Given the description of an element on the screen output the (x, y) to click on. 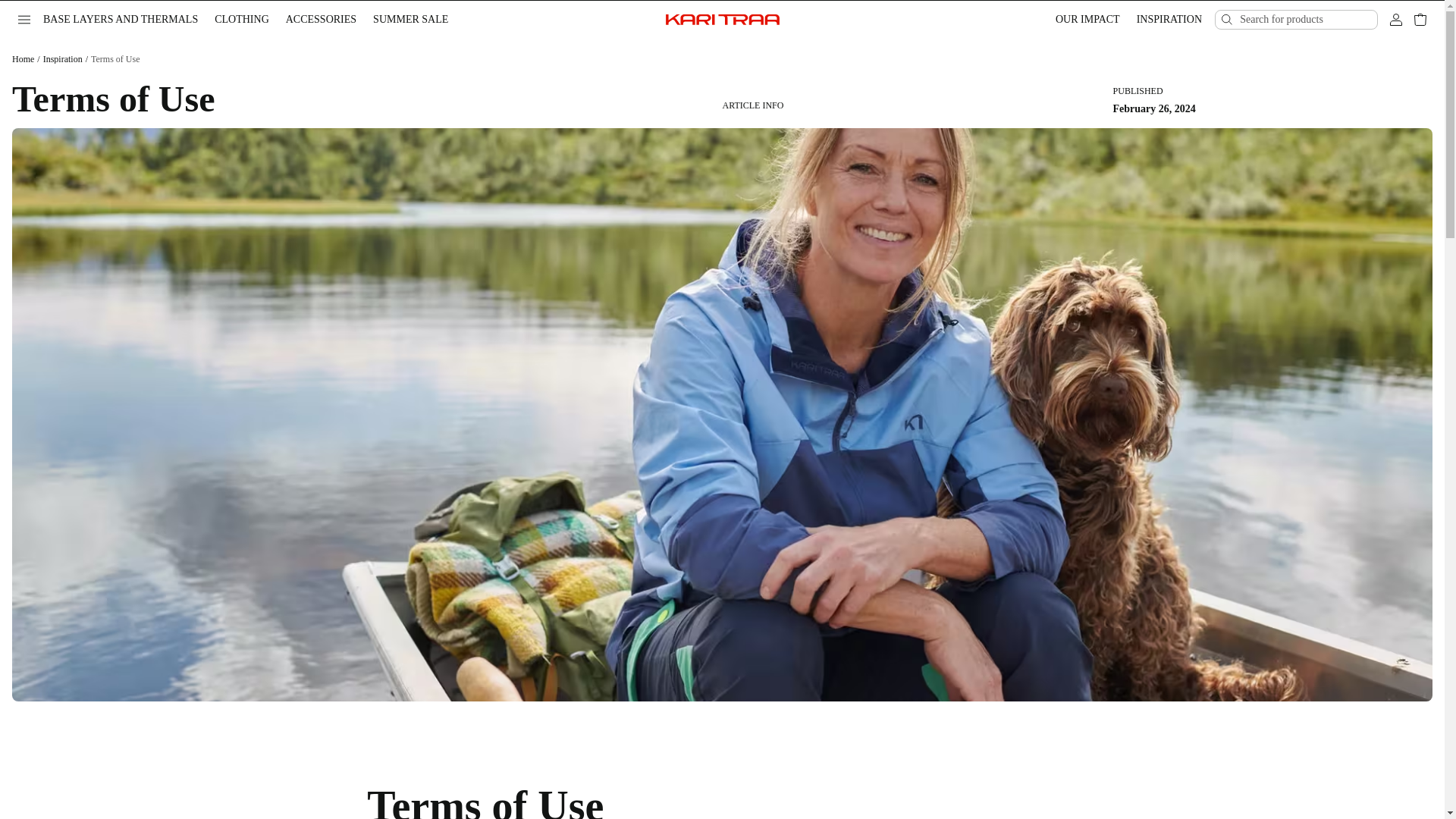
BASE LAYERS AND THERMALS (120, 19)
Kari Traa (721, 19)
ACCESSORIES (320, 19)
CLOTHING (242, 19)
SUMMER SALE (410, 19)
